Given the description of an element on the screen output the (x, y) to click on. 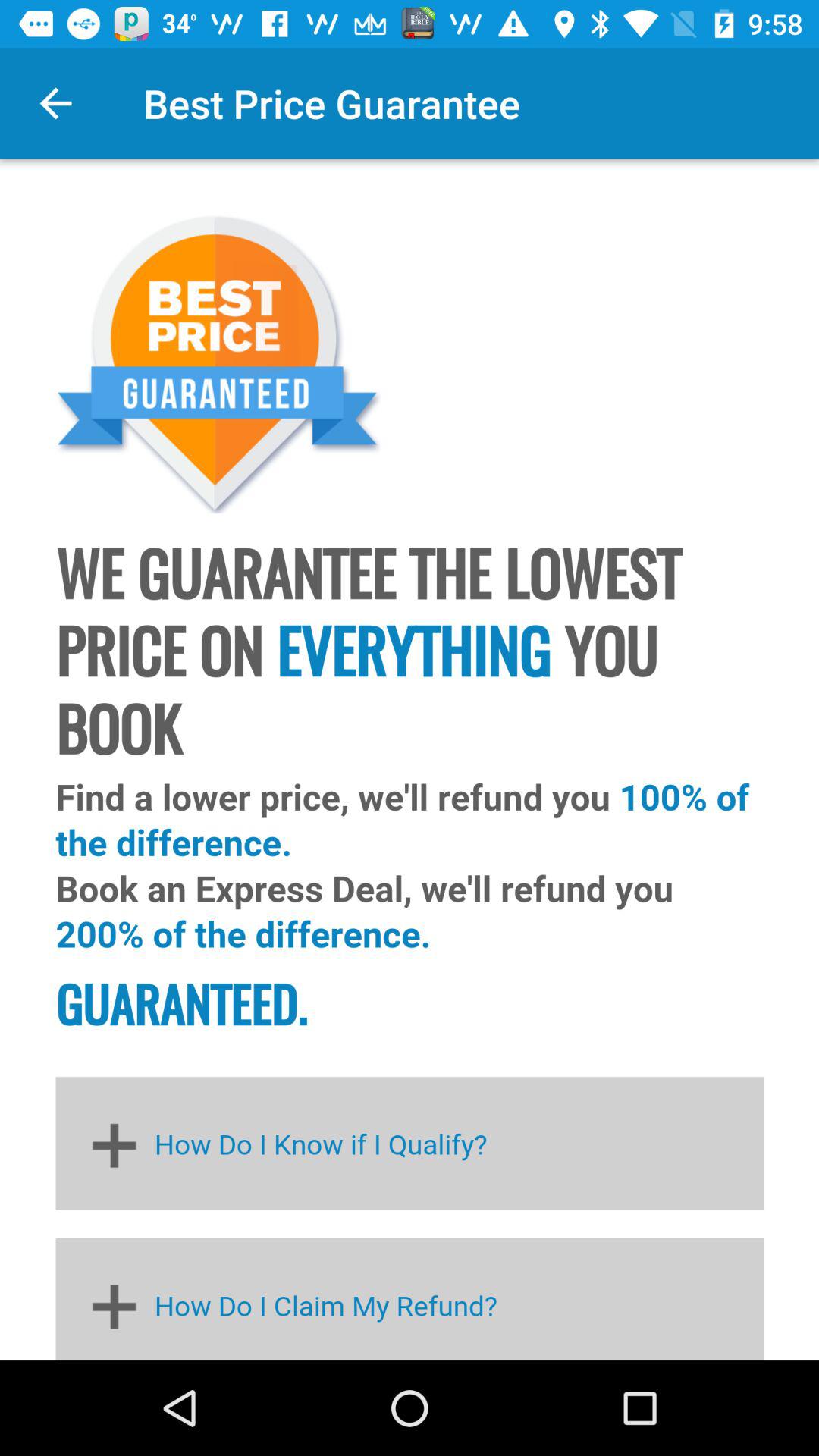
make advertisement (409, 759)
